Given the description of an element on the screen output the (x, y) to click on. 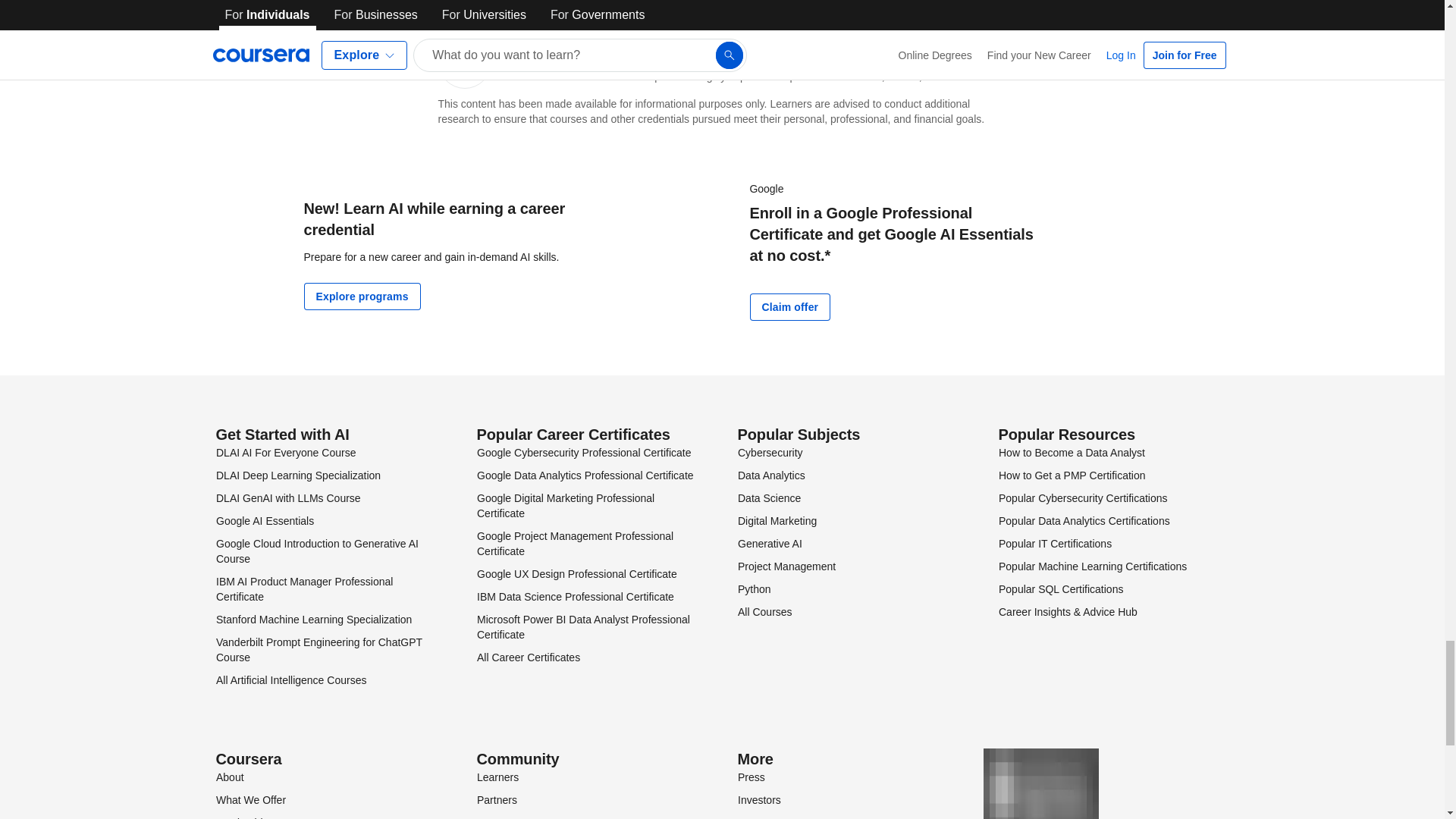
DLAI AI For Everyone Course (285, 452)
Coursera Staff (544, 43)
Explore programs (361, 296)
Share (976, 7)
Claim offer (789, 307)
DLAI Deep Learning Specialization (297, 475)
New! Learn AI while earning a career credential (433, 218)
